Given the description of an element on the screen output the (x, y) to click on. 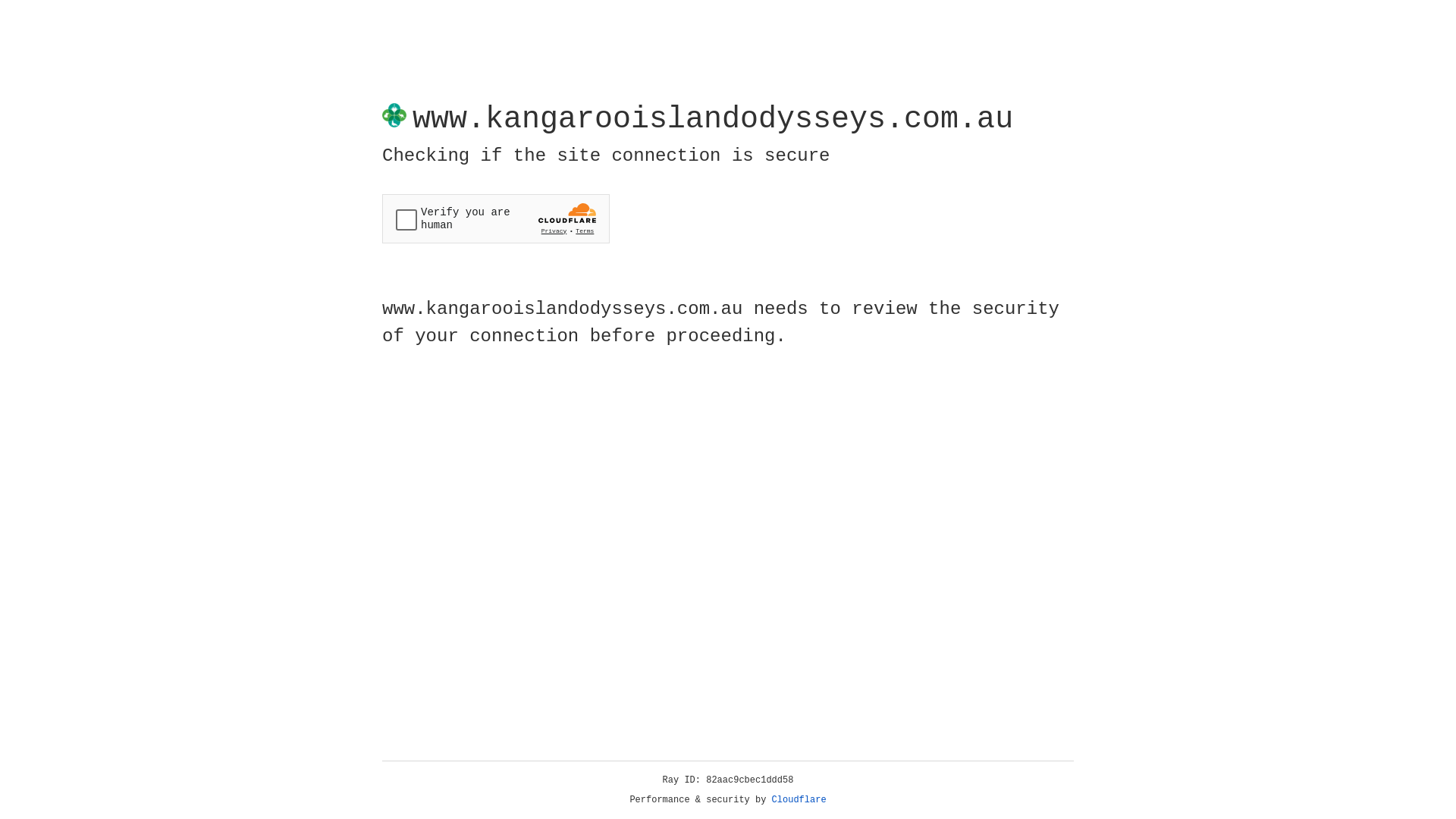
Cloudflare Element type: text (798, 799)
Widget containing a Cloudflare security challenge Element type: hover (495, 218)
